Given the description of an element on the screen output the (x, y) to click on. 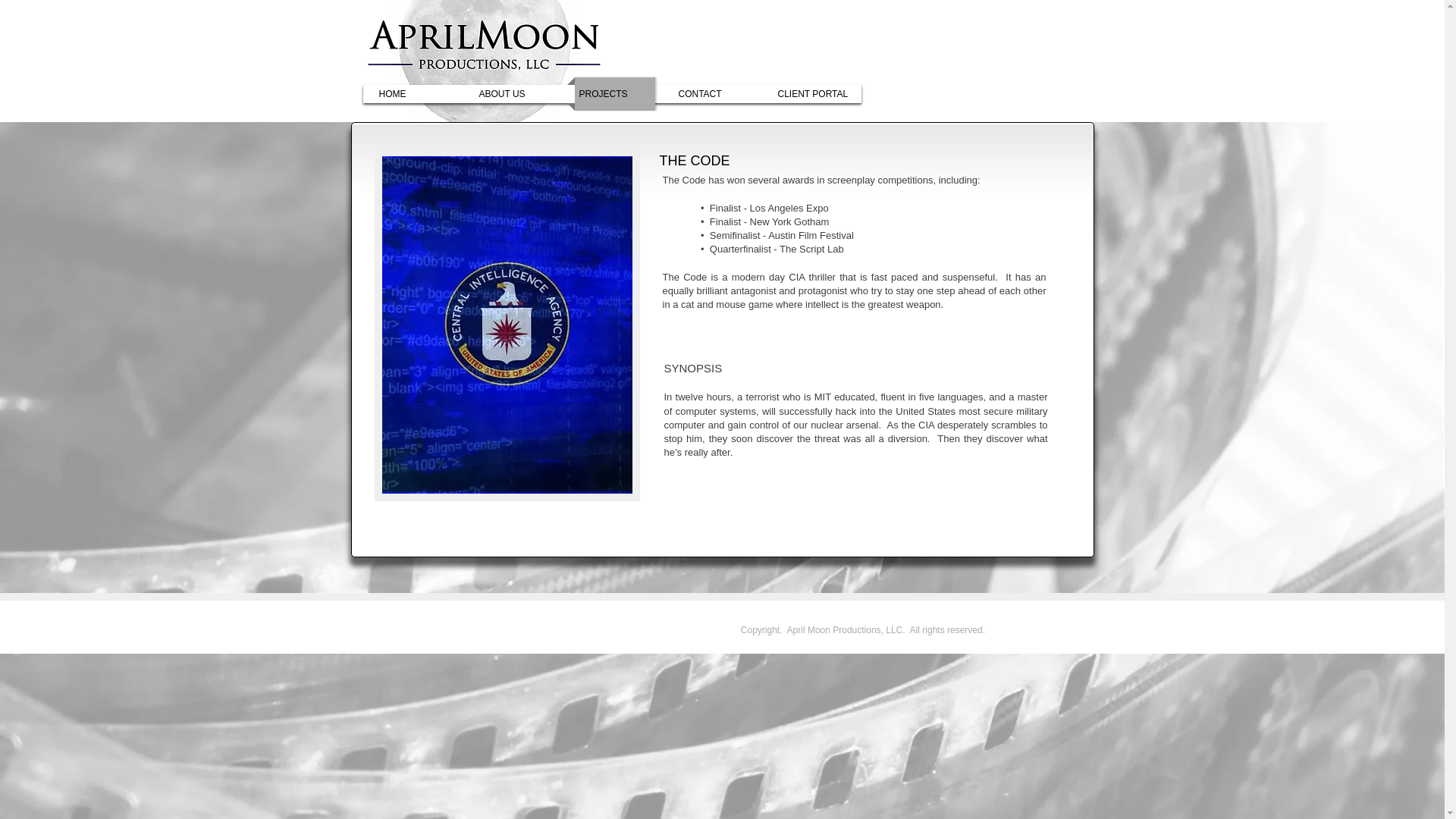
CLIENT PORTAL (813, 93)
CONTACT (713, 93)
ABOUT US (515, 93)
PROJECTS (614, 93)
HOME (414, 93)
